Given the description of an element on the screen output the (x, y) to click on. 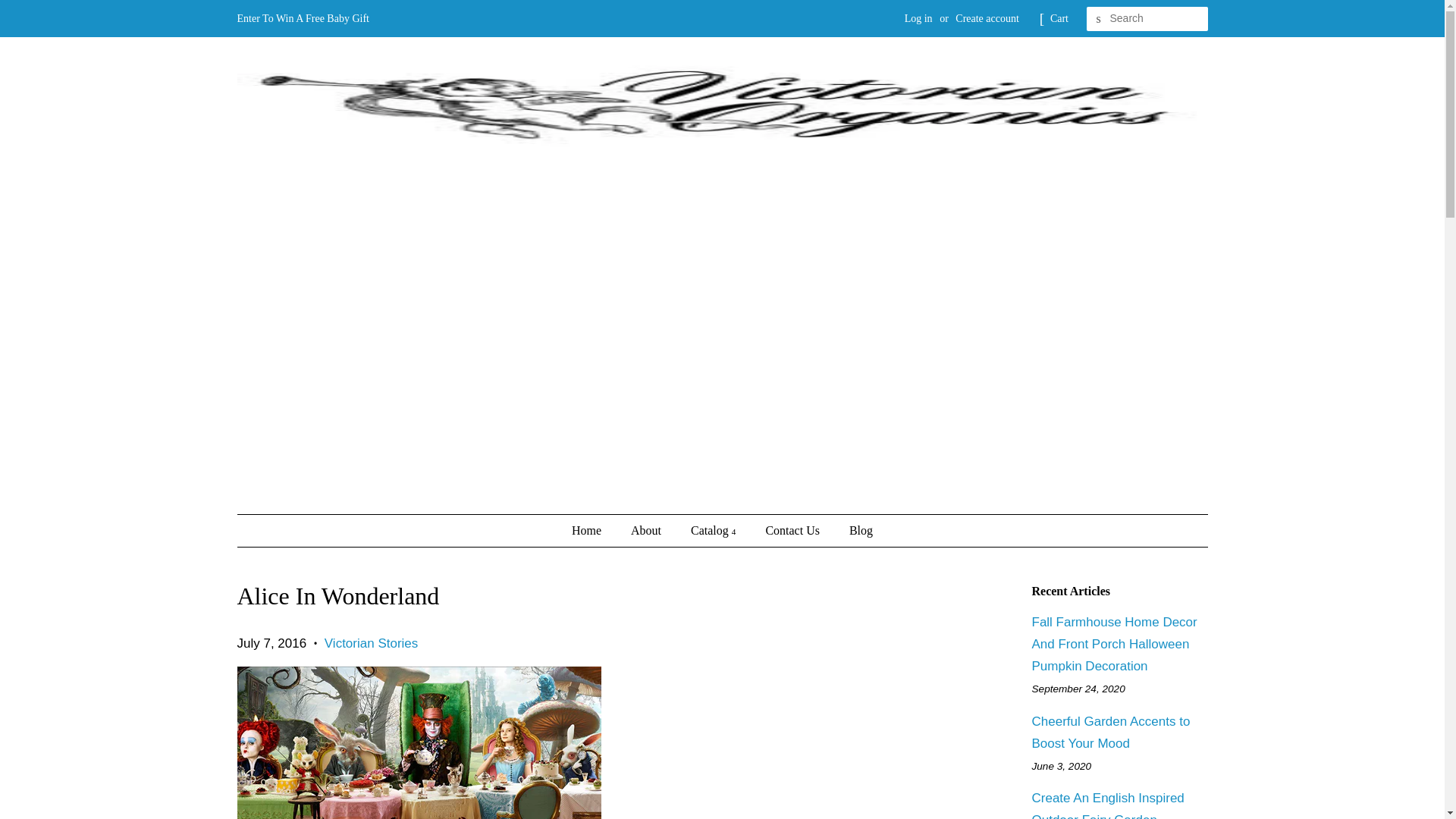
Catalog (715, 530)
Cart (1058, 18)
Home (593, 530)
Enter To Win A Free Baby Gift (301, 18)
Blog (855, 530)
Log in (918, 18)
Search (1097, 18)
Contact Us (794, 530)
Create account (987, 18)
About (648, 530)
